Given the description of an element on the screen output the (x, y) to click on. 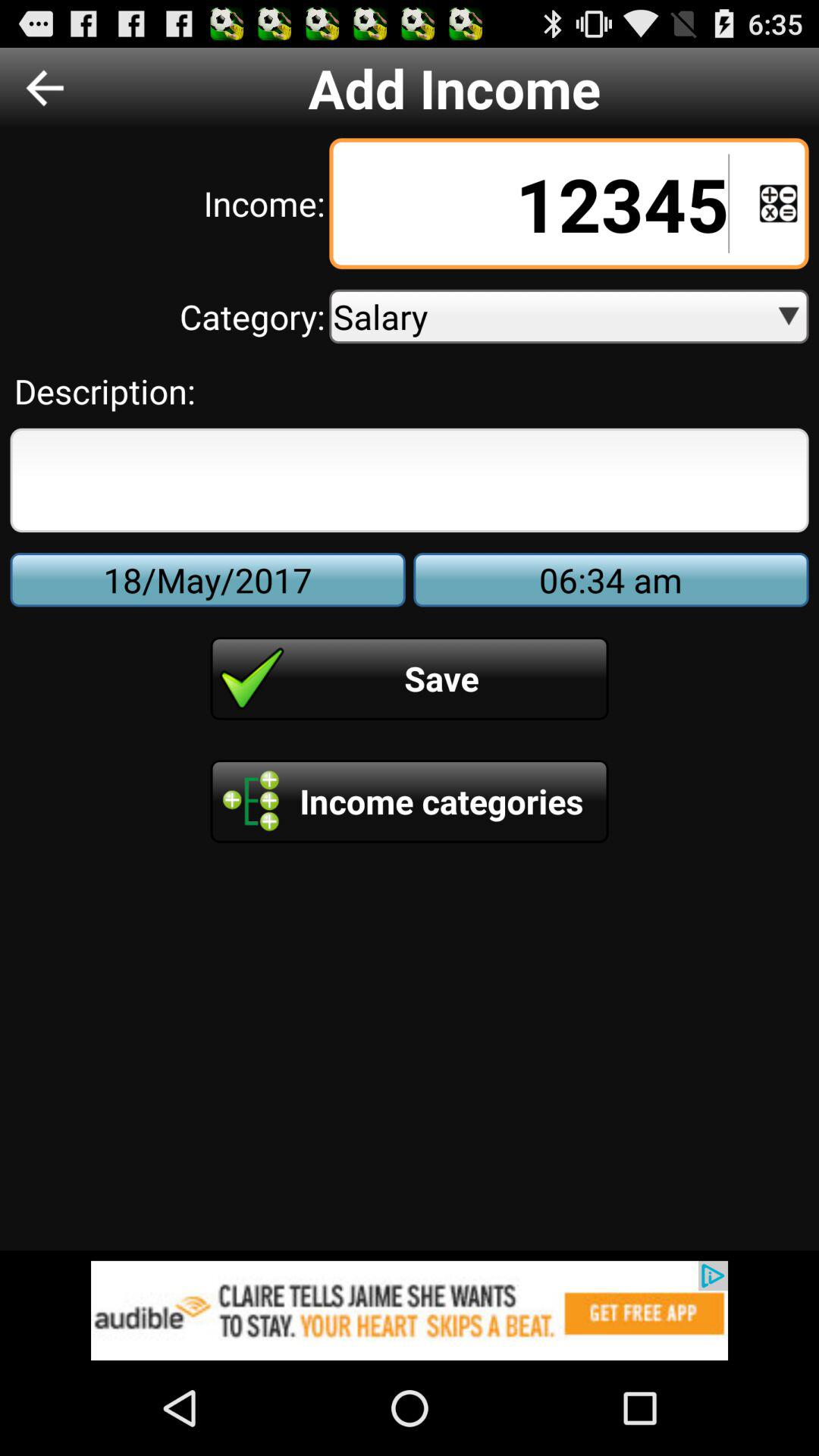
field for text description (409, 480)
